Given the description of an element on the screen output the (x, y) to click on. 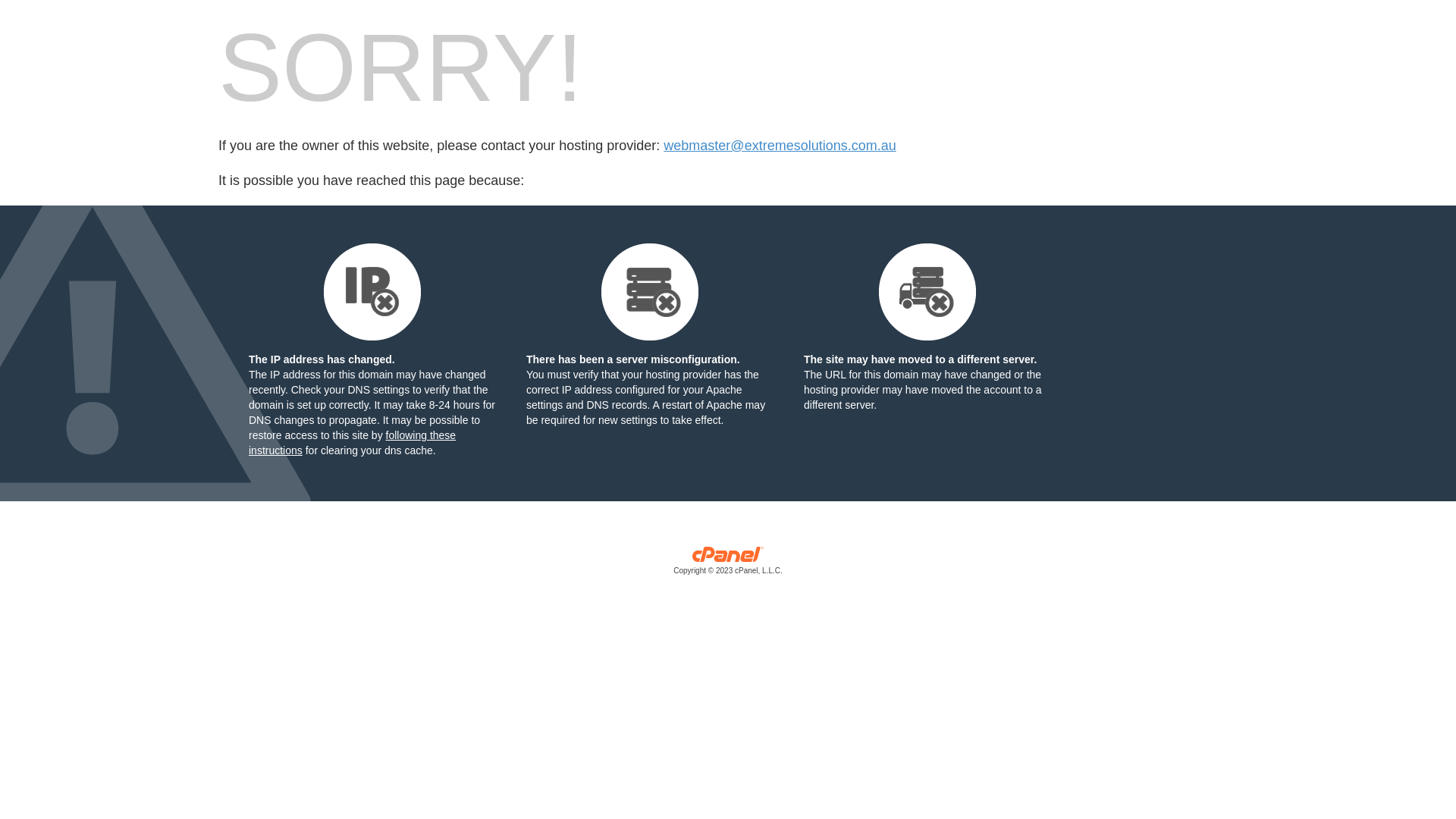
webmaster@extremesolutions.com.au Element type: text (779, 145)
following these instructions Element type: text (351, 442)
